Given the description of an element on the screen output the (x, y) to click on. 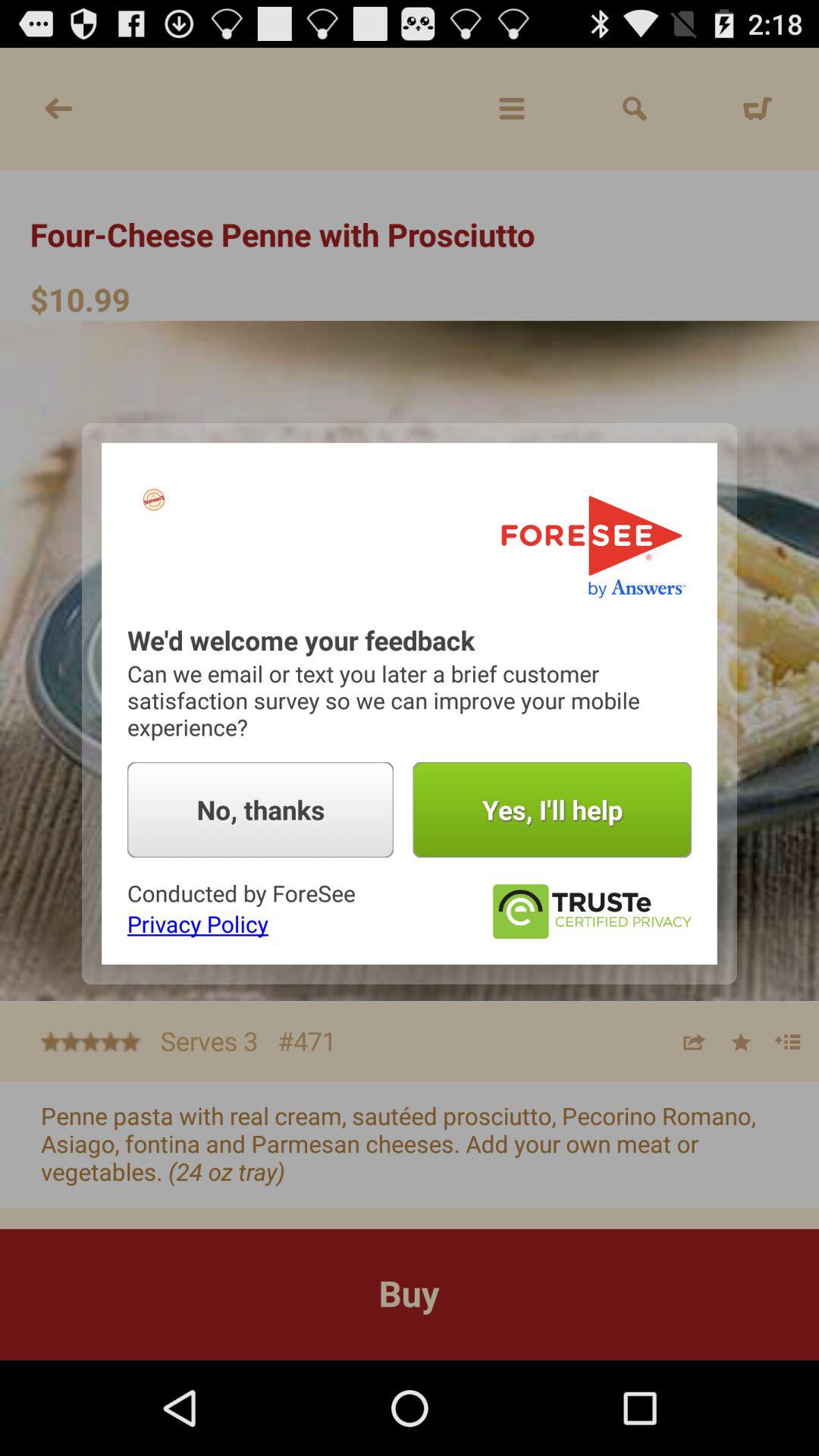
view privacy certificate (591, 911)
